Given the description of an element on the screen output the (x, y) to click on. 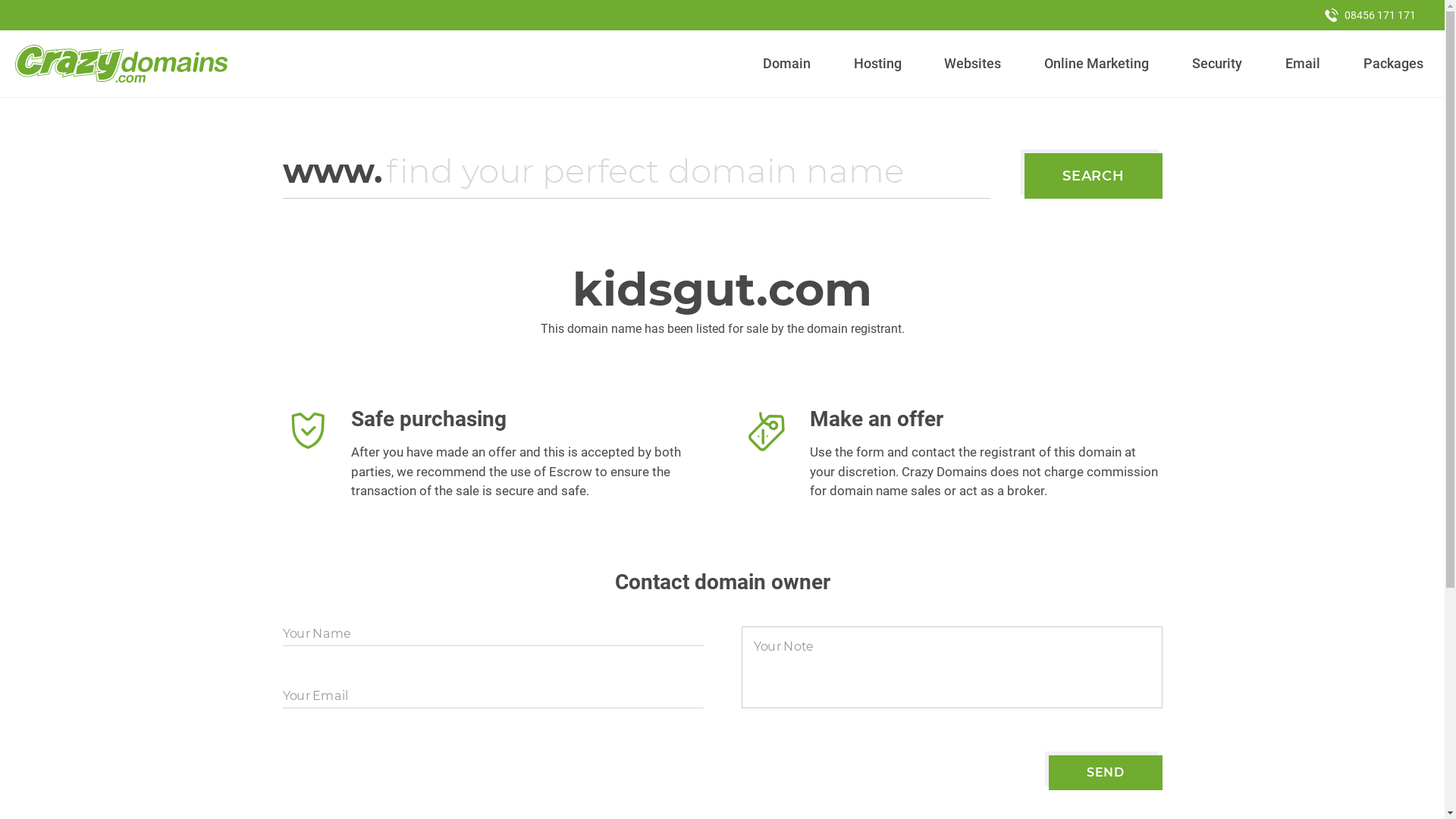
Packages Element type: text (1392, 63)
08456 171 171 Element type: text (1370, 15)
Websites Element type: text (972, 63)
Security Element type: text (1217, 63)
SEARCH Element type: text (1092, 175)
Email Element type: text (1302, 63)
SEND Element type: text (1105, 772)
Online Marketing Element type: text (1096, 63)
Domain Element type: text (786, 63)
Hosting Element type: text (877, 63)
